Given the description of an element on the screen output the (x, y) to click on. 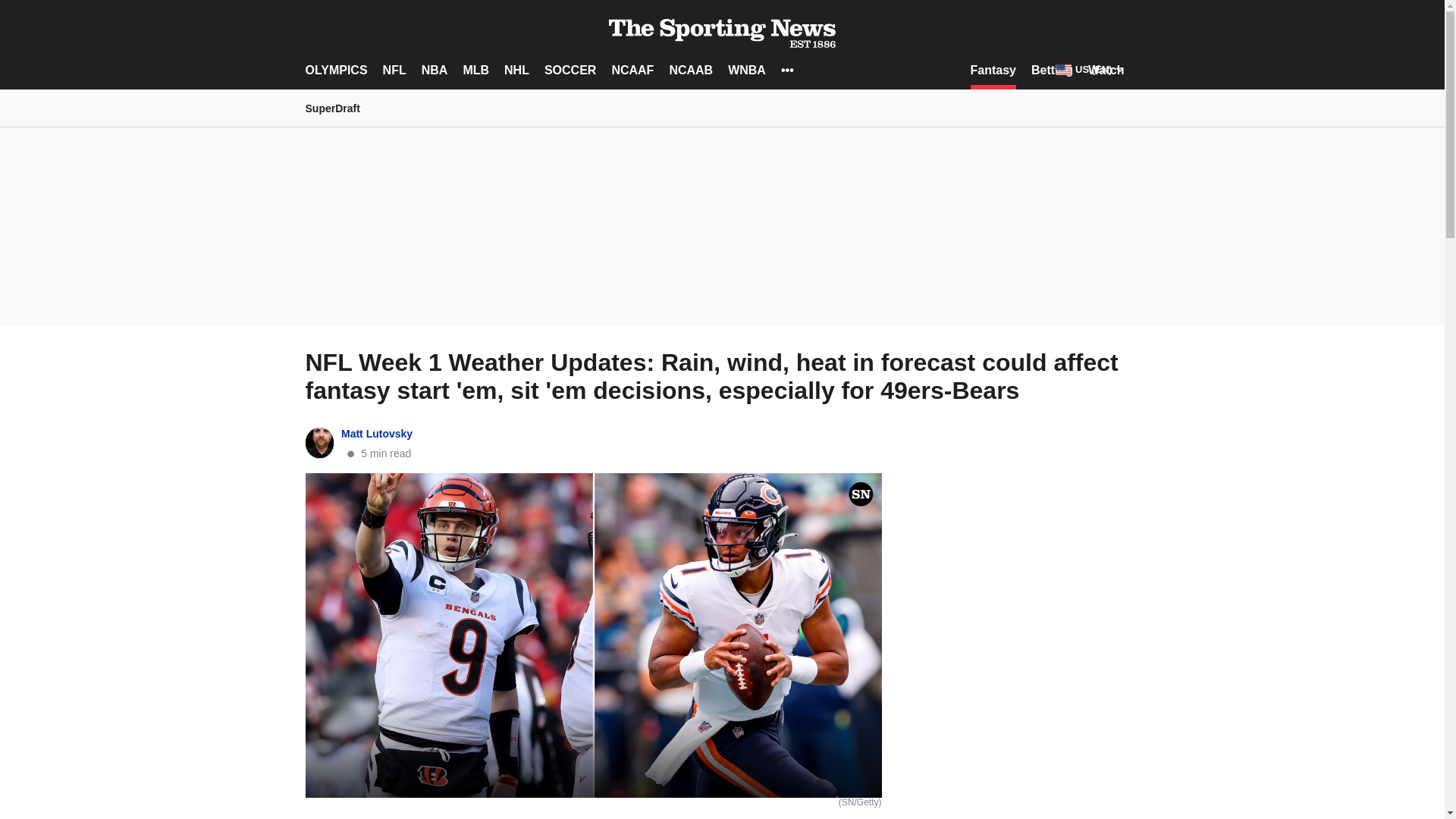
WNBA (746, 70)
SOCCER (569, 70)
NCAAF (632, 70)
OLYMPICS (335, 70)
NCAAB (690, 70)
